Given the description of an element on the screen output the (x, y) to click on. 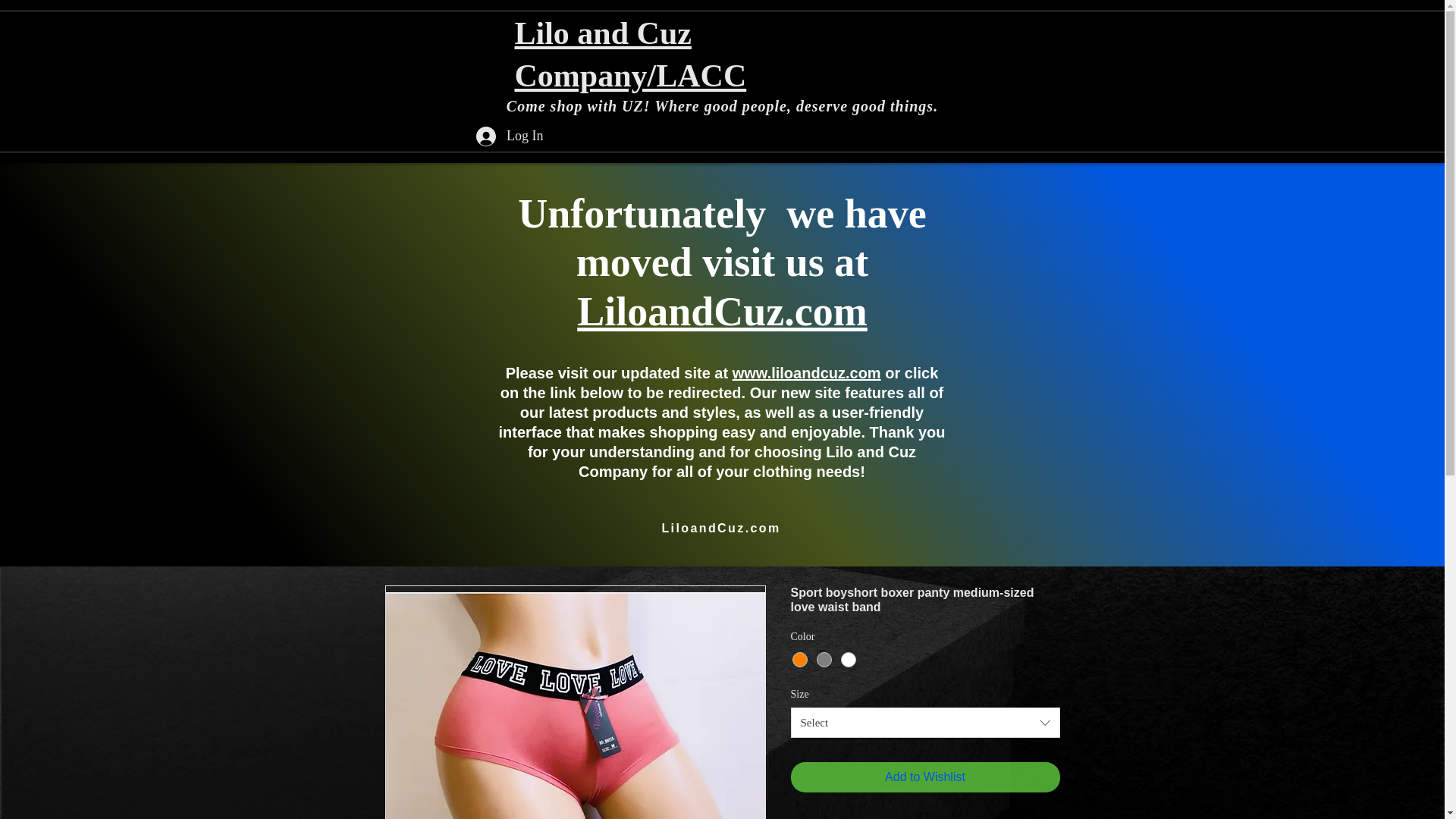
Add to Wishlist (924, 777)
LiloandCuz.com (721, 528)
Select (924, 722)
www.liloandcuz.com (806, 372)
Log In (509, 136)
LiloandCuz.com (721, 311)
